Given the description of an element on the screen output the (x, y) to click on. 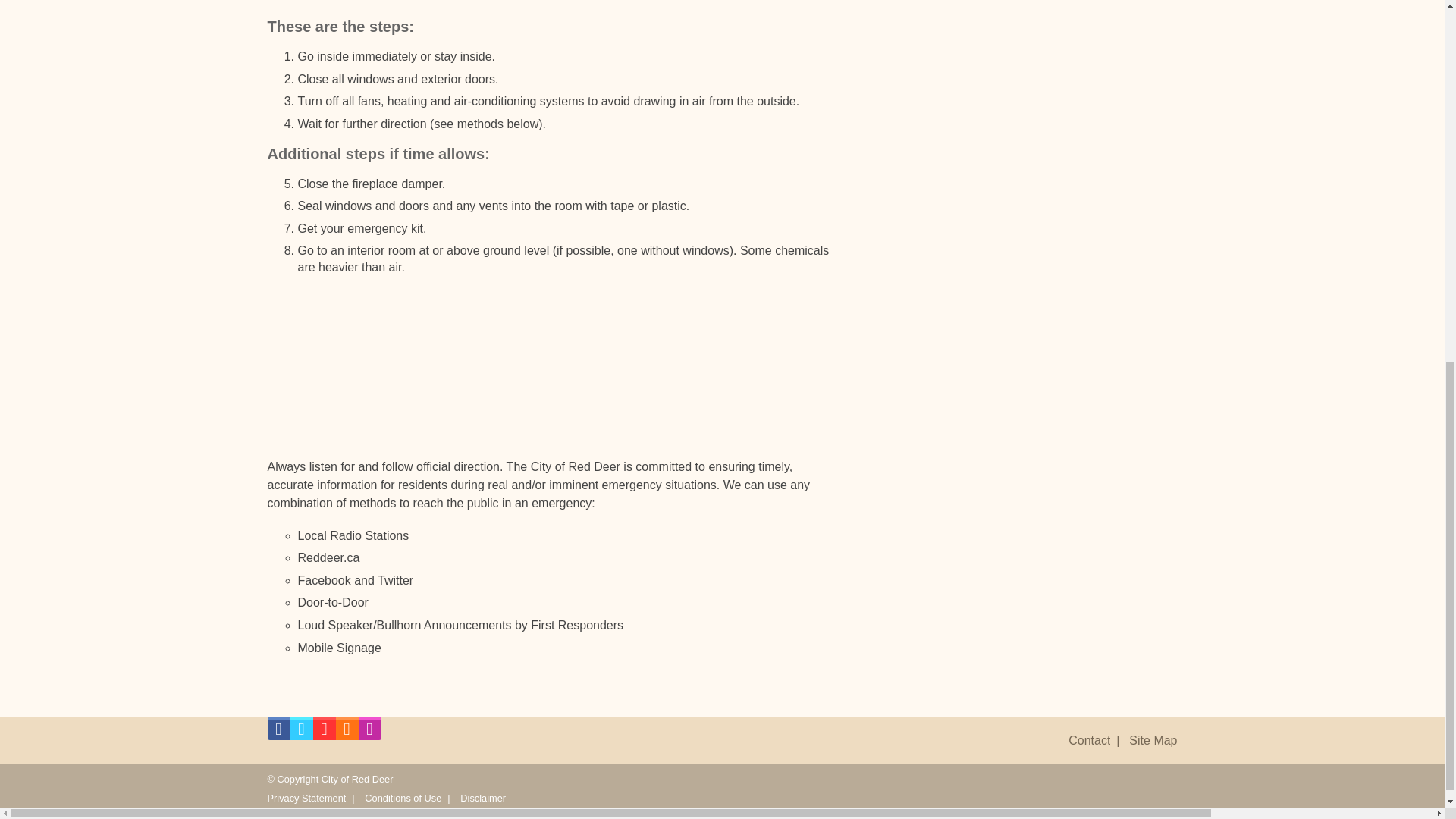
Conditions of Use (403, 798)
Open City of Red Deer Facebook Page (277, 732)
Privacy Statement (306, 798)
Disclaimer (482, 798)
Open City of Red Deer Instagram (369, 732)
Open City of Red Deer RSS Feeds (346, 732)
Contact (1088, 740)
Open City of Red Deer Twitter Feed (301, 732)
Site Map (1152, 740)
Open City of Red Deer YouTube Channel (323, 732)
